Given the description of an element on the screen output the (x, y) to click on. 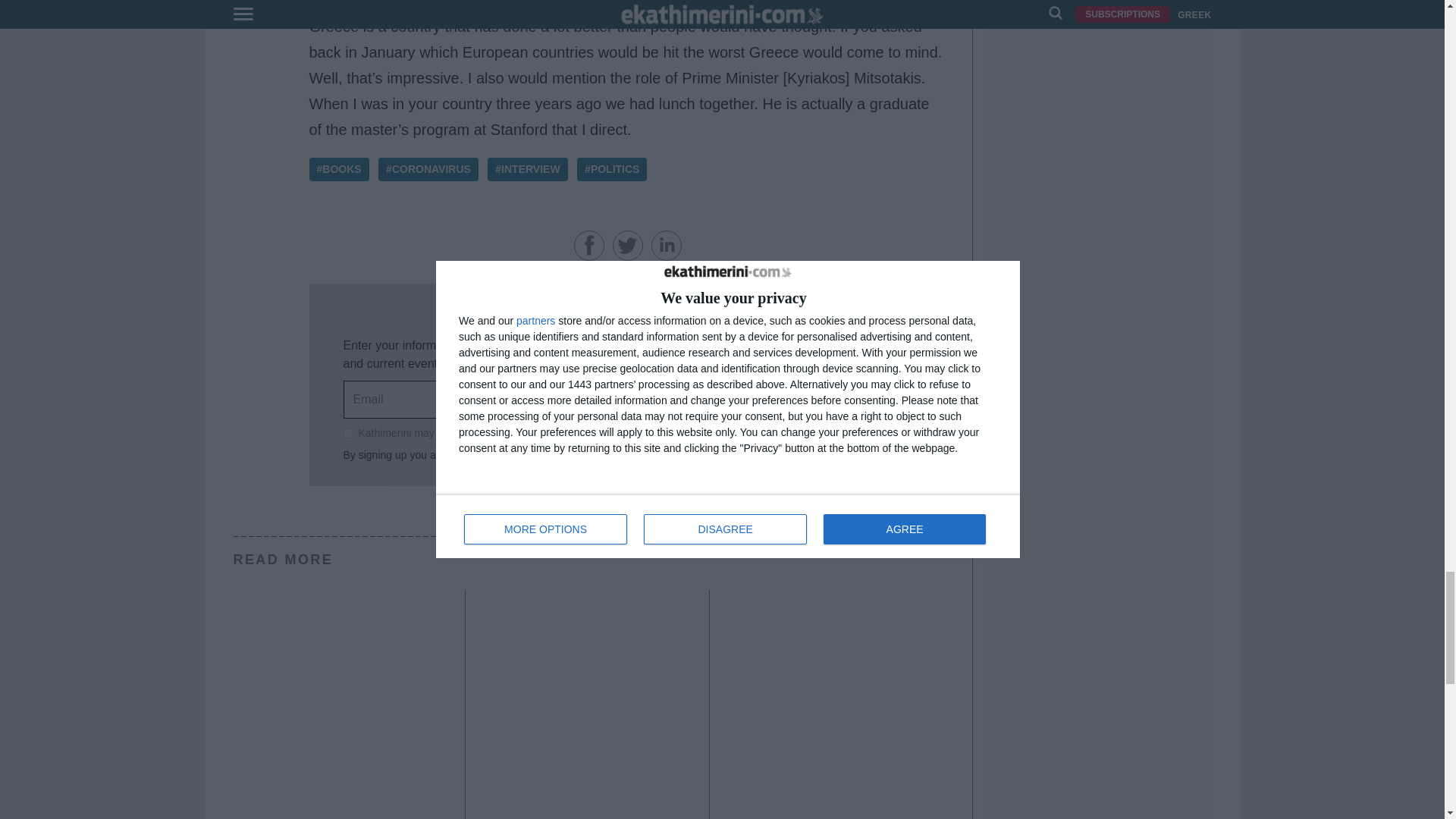
on (347, 433)
